Given the description of an element on the screen output the (x, y) to click on. 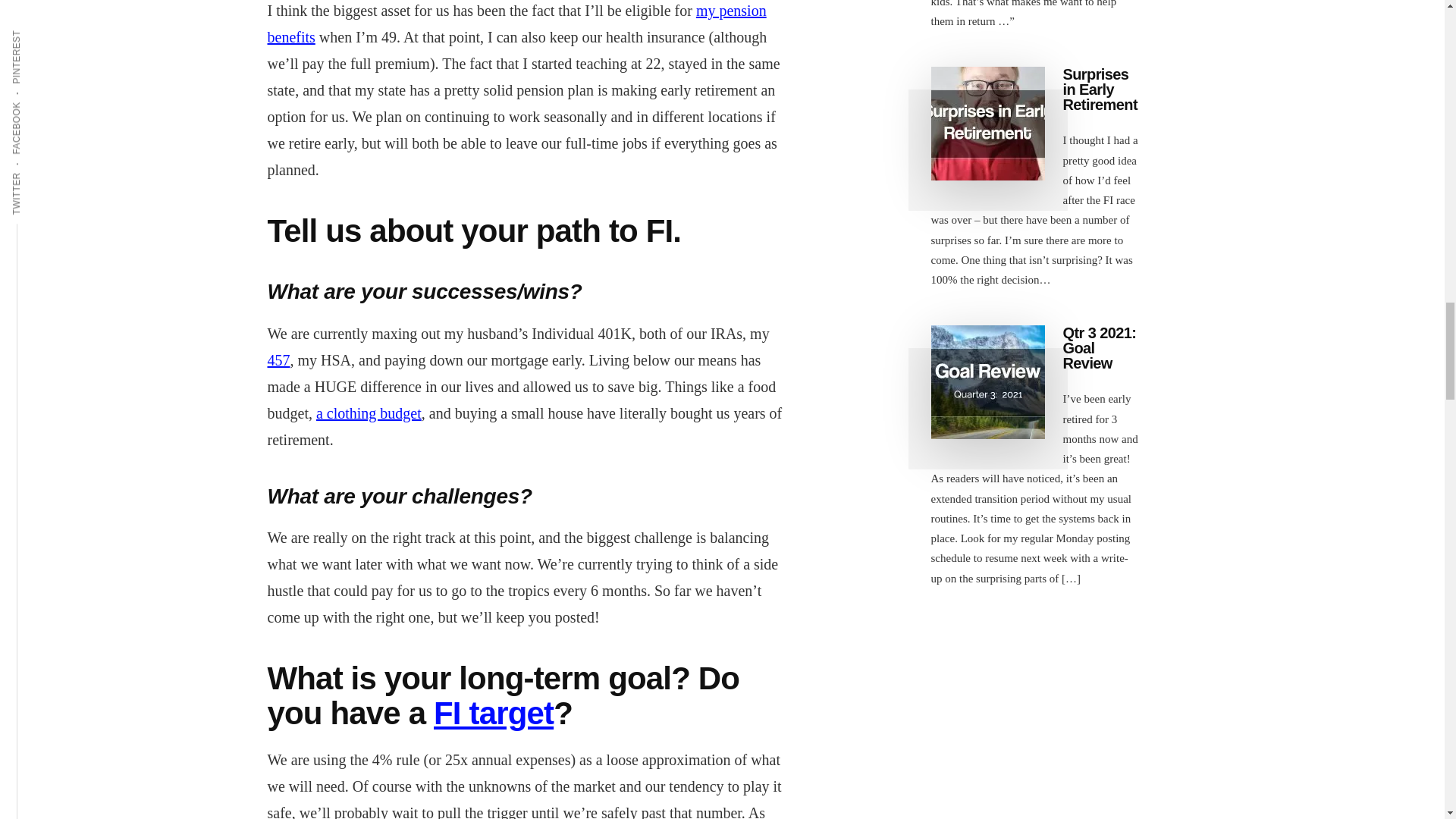
a clothing budget (368, 412)
457 (277, 360)
FI target (493, 713)
my pension benefits (515, 23)
